Given the description of an element on the screen output the (x, y) to click on. 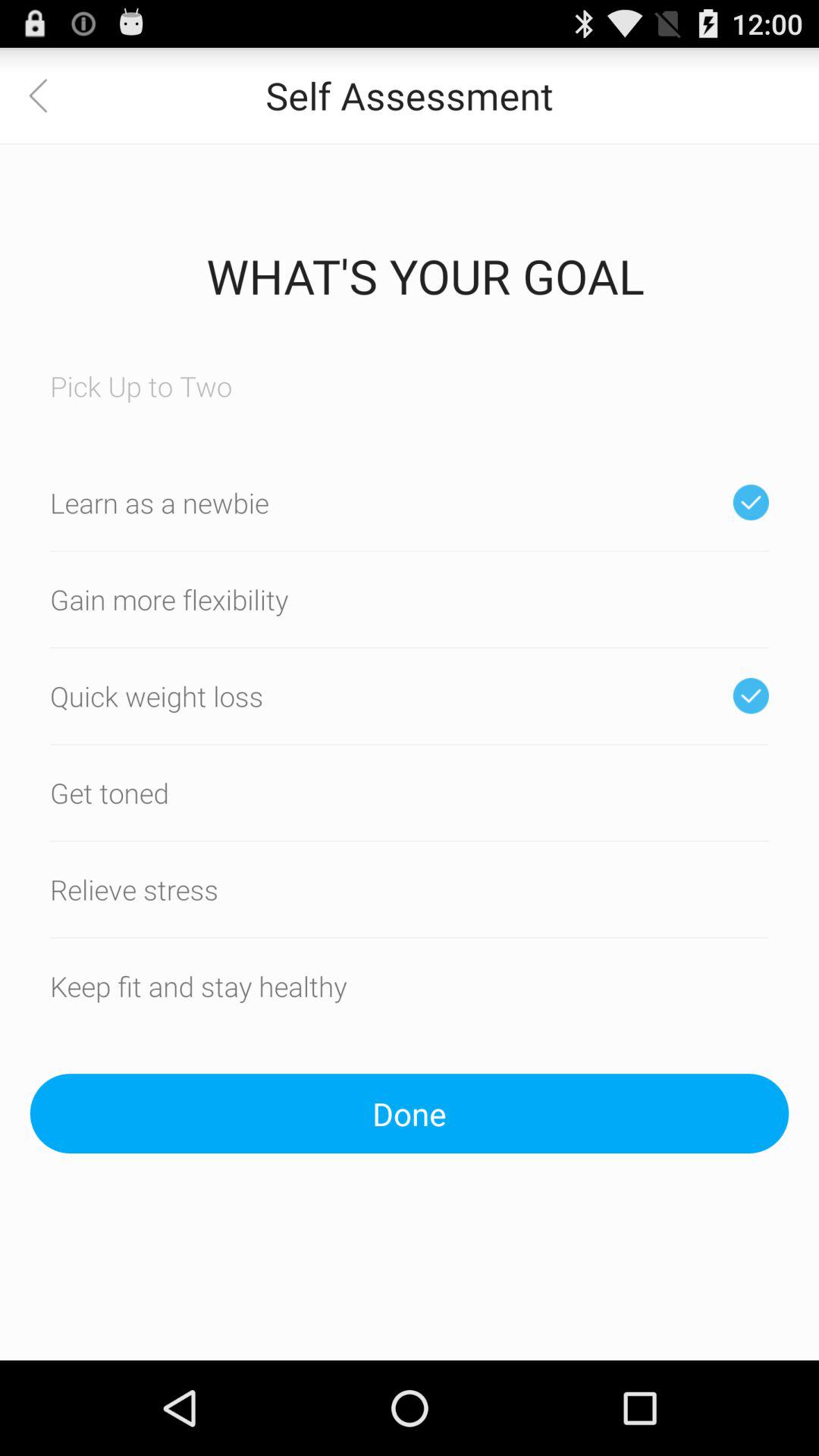
swipe until the done icon (409, 1113)
